Given the description of an element on the screen output the (x, y) to click on. 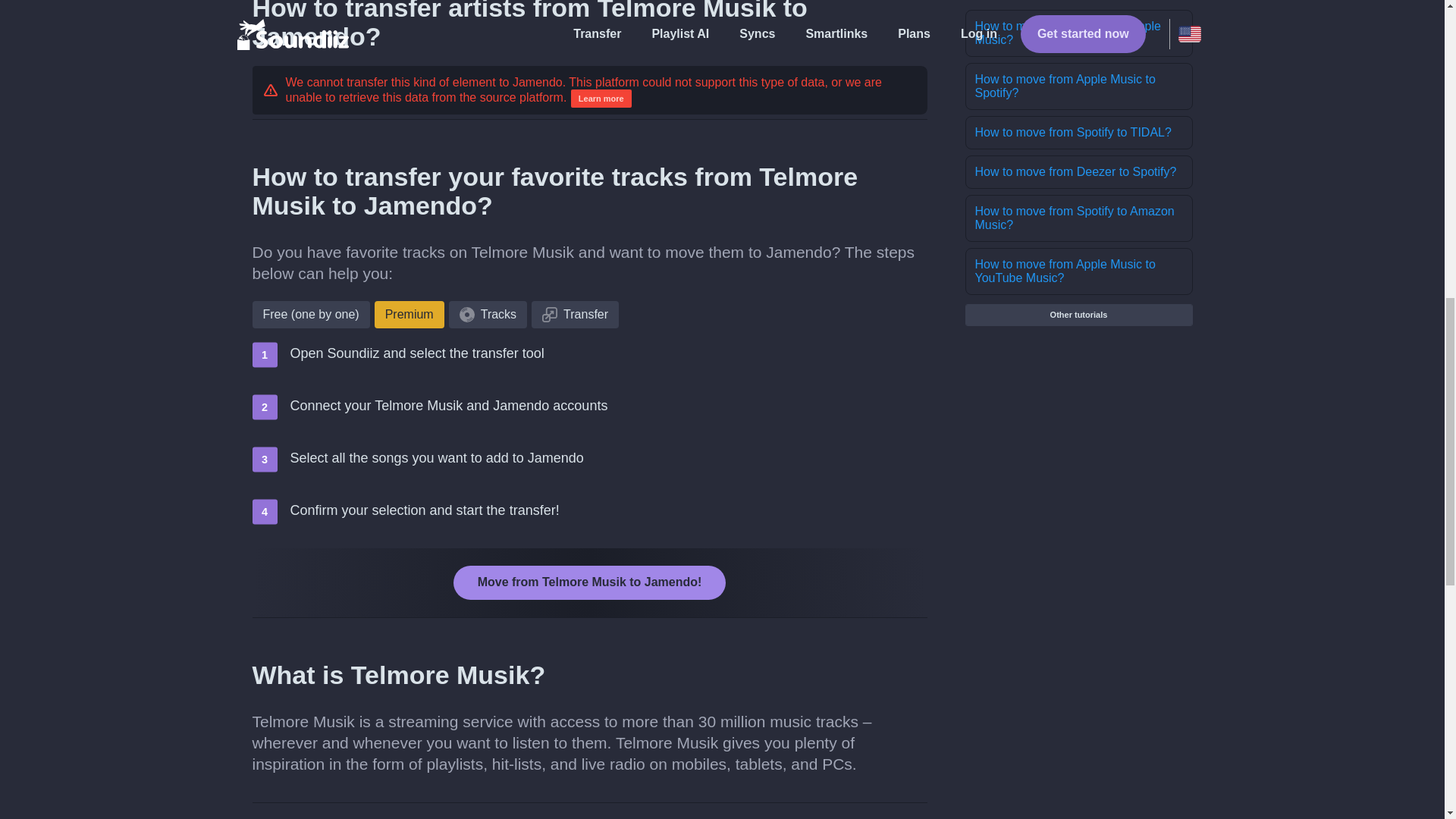
How to move from Spotify to Apple Music? (1077, 32)
Premium (409, 314)
How to move from Spotify to TIDAL? (1077, 132)
Learn more (600, 98)
How to move from Apple Music to Spotify? (1077, 86)
Move from Telmore Musik to Jamendo! (589, 582)
